Given the description of an element on the screen output the (x, y) to click on. 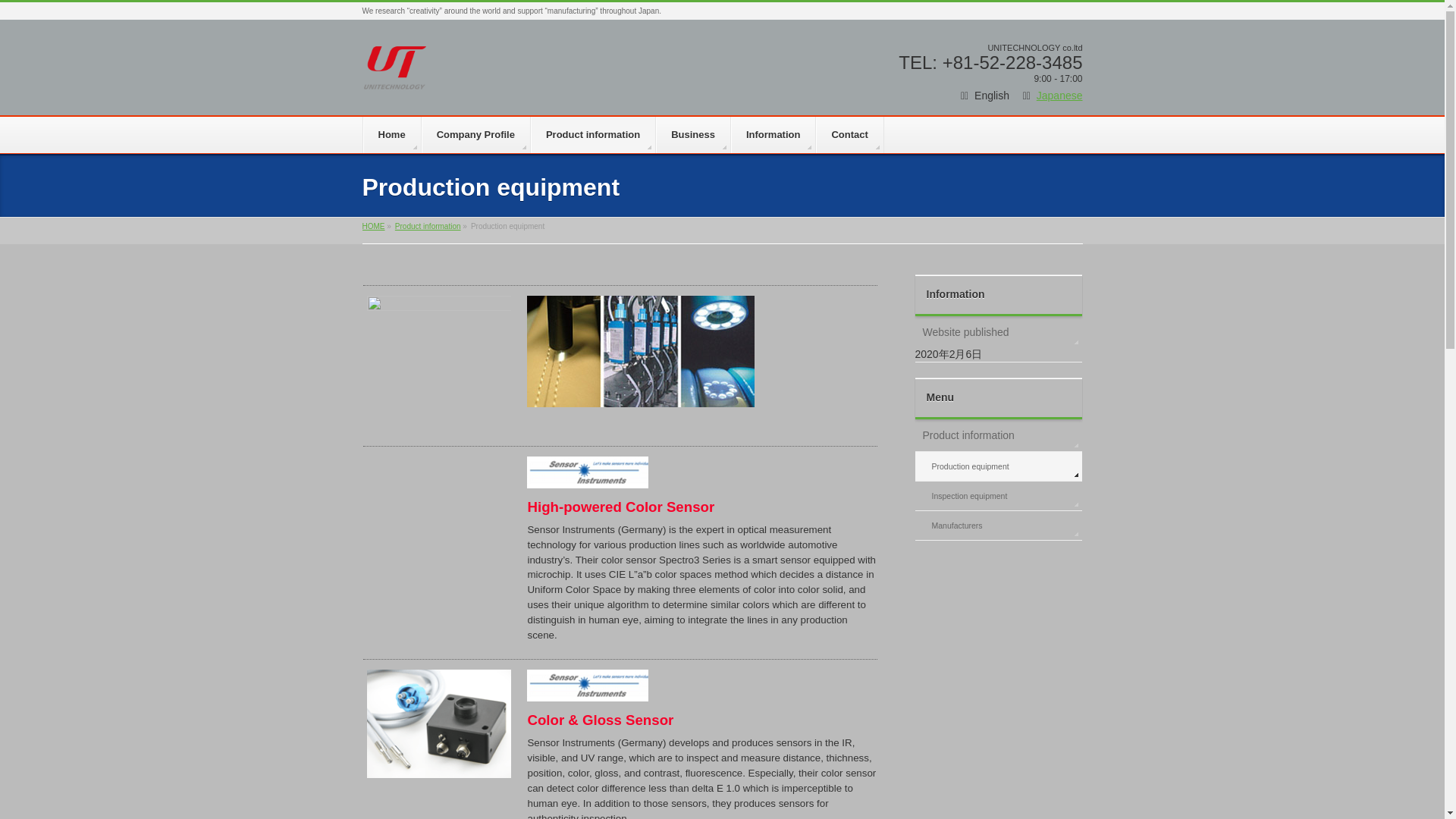
Home (391, 135)
Japanese (1059, 95)
Product information (997, 435)
Contact (849, 135)
Business (693, 135)
Inspection equipment (997, 495)
Website published (997, 332)
Japanese (1059, 95)
Product information (427, 225)
Company Profile (476, 135)
HOME (373, 225)
UNITECHNOLOGY co.ltd (395, 73)
Product information (593, 135)
Information (773, 135)
Manufacturers (997, 525)
